Given the description of an element on the screen output the (x, y) to click on. 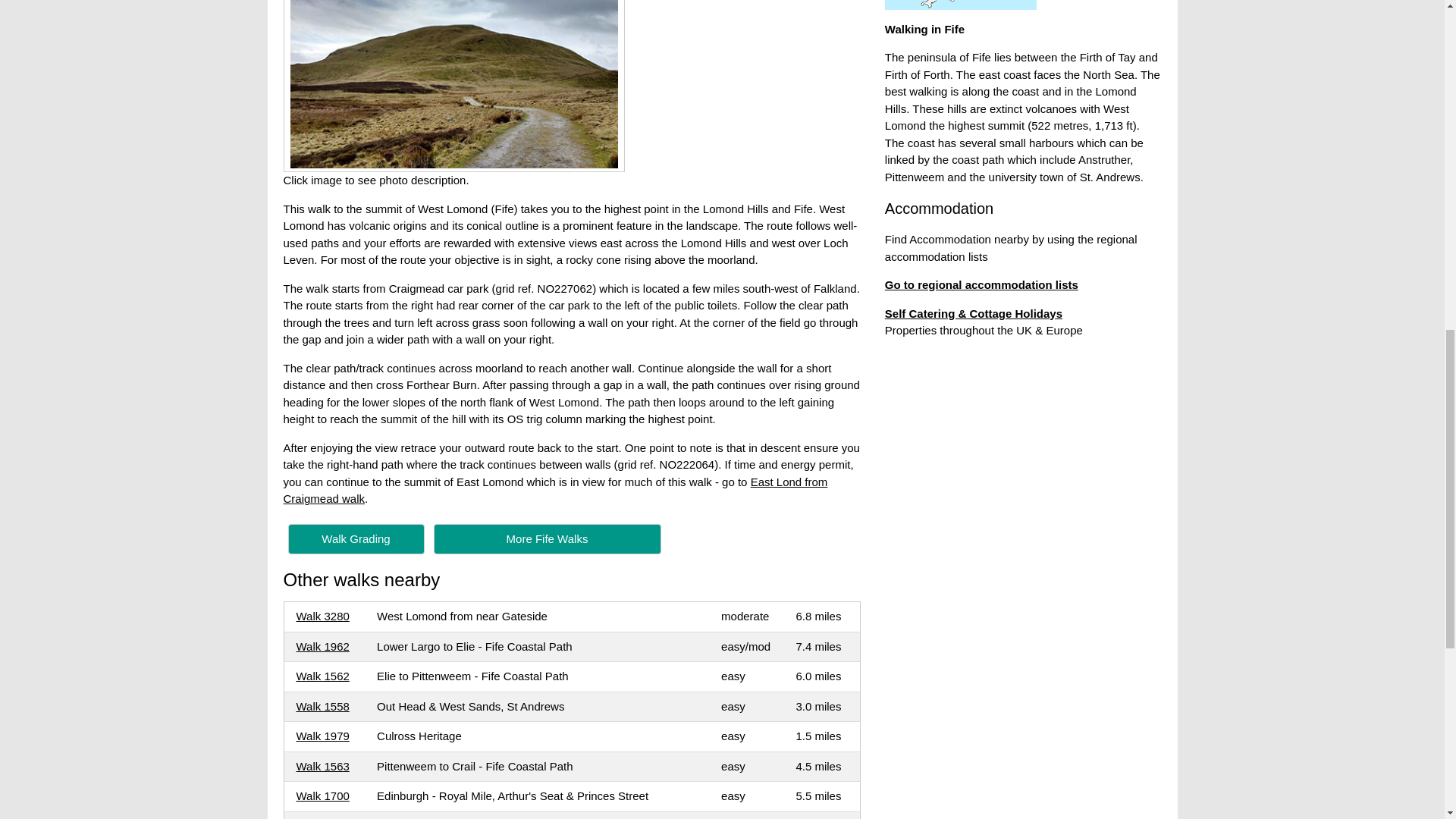
Walk Grading (356, 537)
East Lond from Craigmead walk (555, 490)
